Given the description of an element on the screen output the (x, y) to click on. 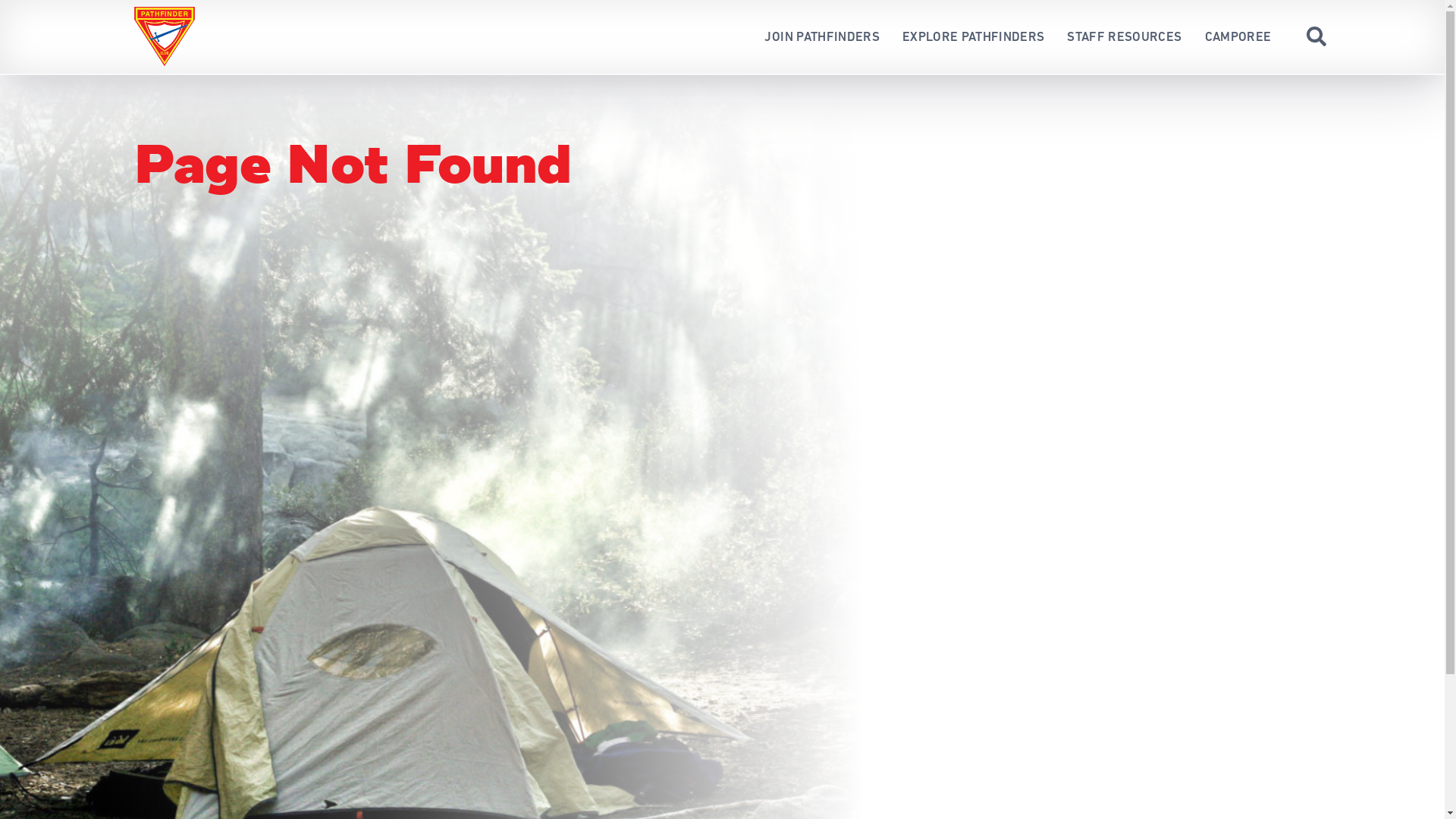
Pathfinders Element type: text (164, 35)
JOIN PATHFINDERS Element type: text (821, 36)
STAFF RESOURCES Element type: text (1124, 36)
CAMPOREE Element type: text (1238, 36)
EXPLORE PATHFINDERS Element type: text (972, 36)
